Given the description of an element on the screen output the (x, y) to click on. 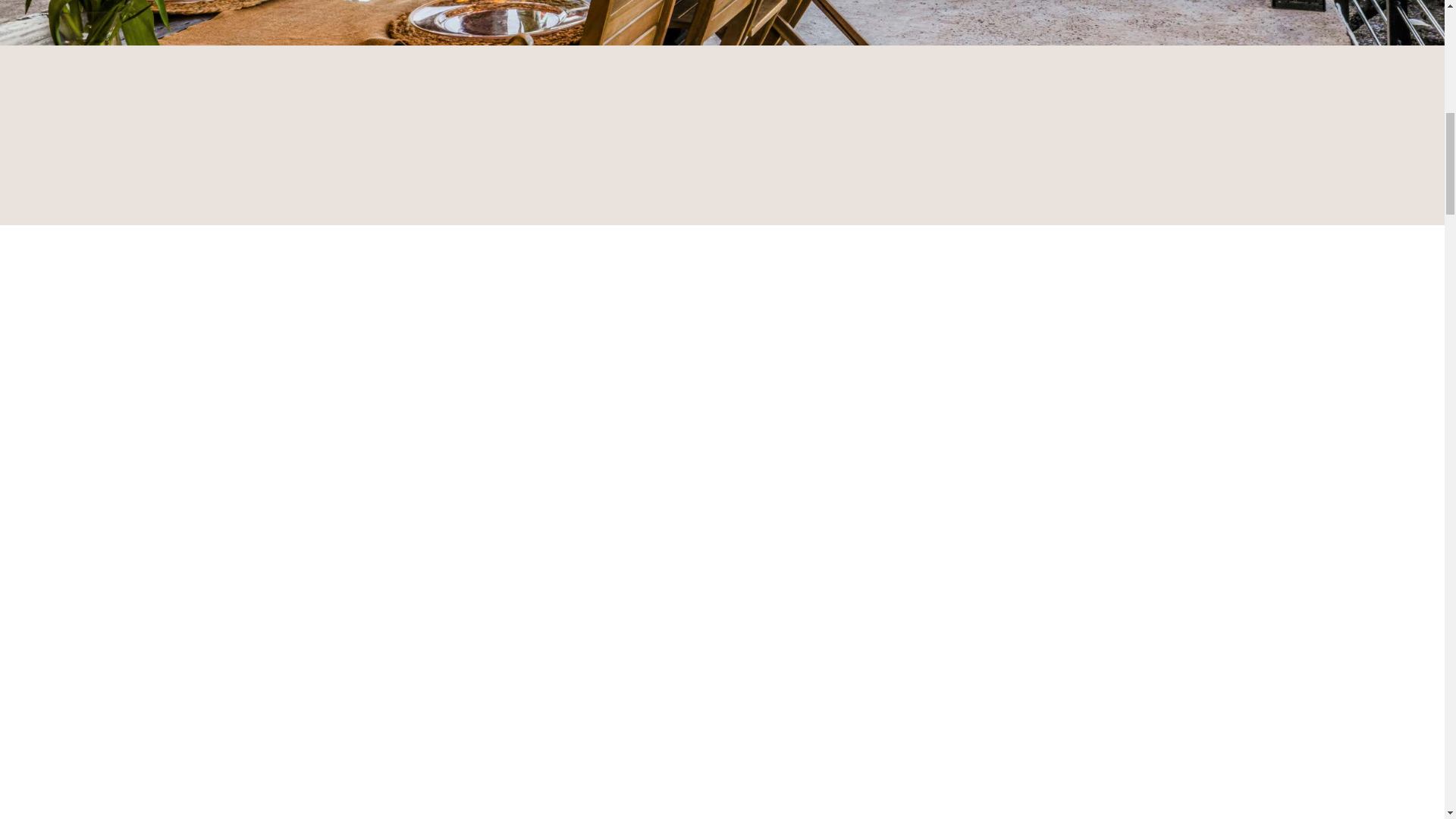
1 (686, 49)
4 (739, 49)
2 (704, 49)
5 (756, 49)
3 (721, 49)
